Given the description of an element on the screen output the (x, y) to click on. 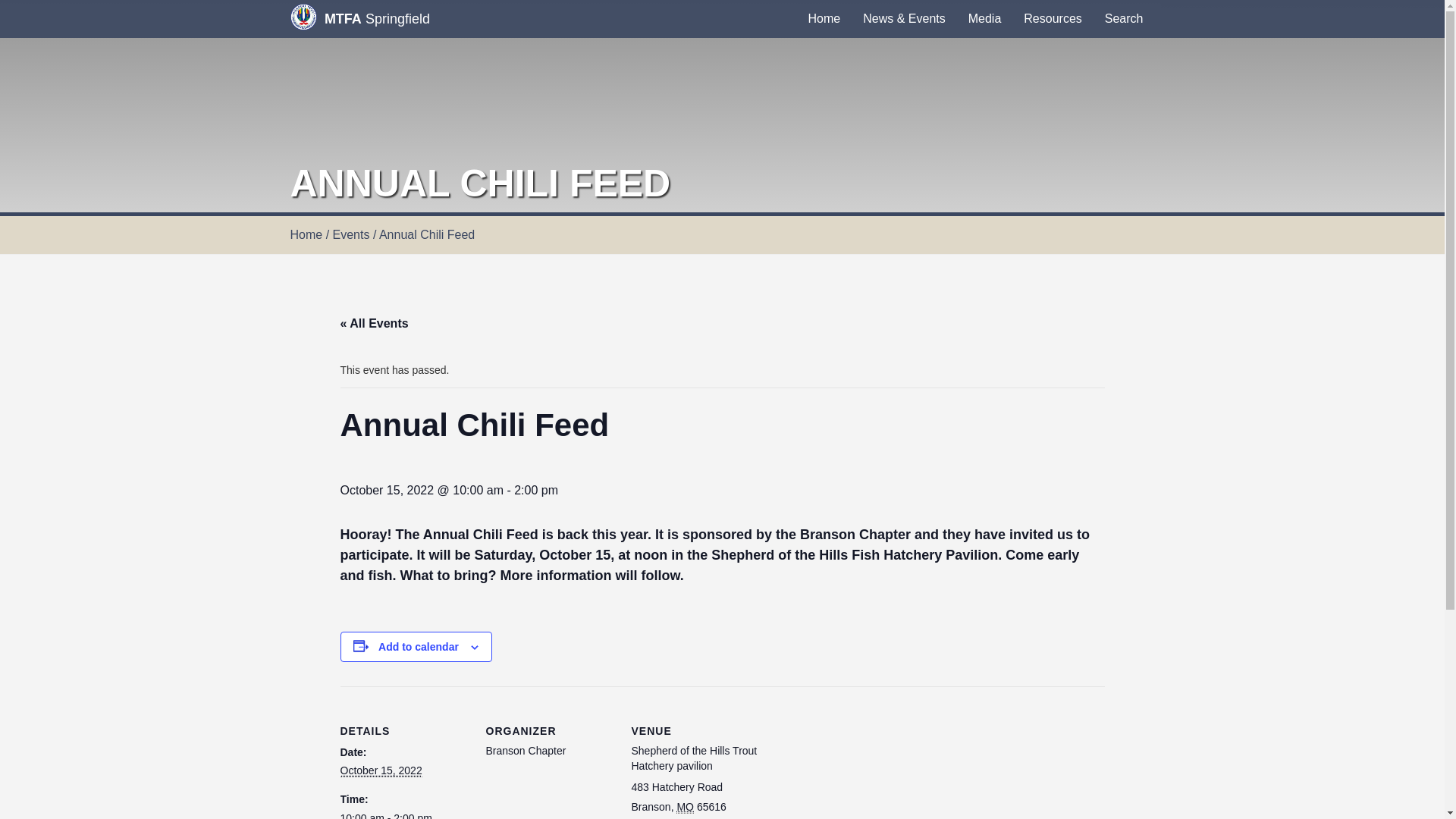
Missouri (685, 807)
Media (984, 18)
2022-10-15 (403, 815)
Events (351, 234)
Search (1123, 18)
Home (305, 234)
Home (823, 18)
Resources (1052, 18)
MTFA Springfield (360, 18)
2022-10-15 (380, 770)
